Given the description of an element on the screen output the (x, y) to click on. 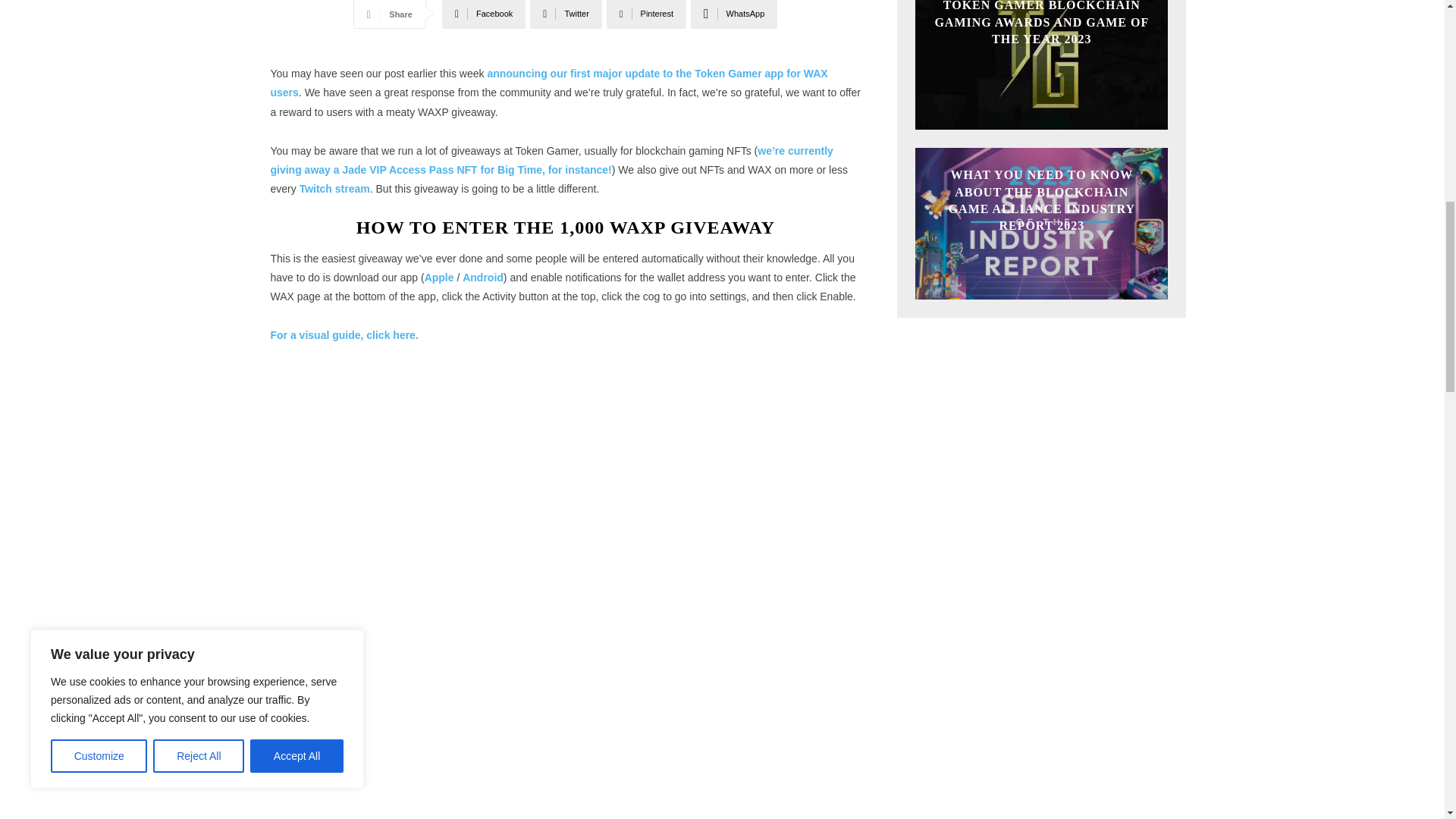
Facebook (483, 14)
Twitter (565, 14)
WhatsApp (733, 14)
Pinterest (646, 14)
